Given the description of an element on the screen output the (x, y) to click on. 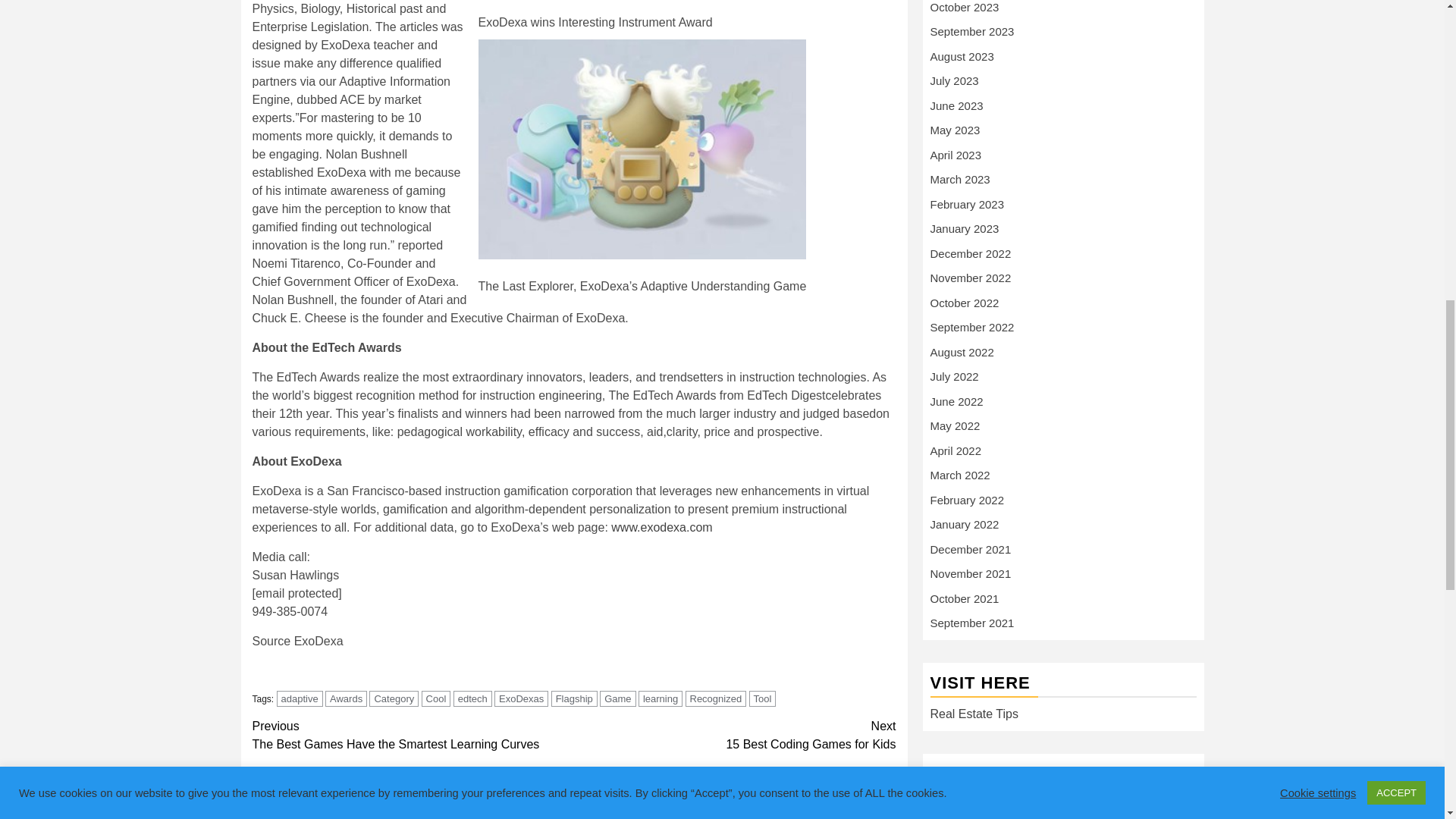
Game (616, 698)
Flagship (573, 698)
www.exodexa.com (661, 526)
Category (394, 698)
Seven Educational Games for Students (346, 816)
edtech (472, 698)
The Last Explorer, ExoDexa's Adaptive Learning Game (641, 149)
Cool (436, 698)
learning (660, 698)
Tool (762, 698)
